Given the description of an element on the screen output the (x, y) to click on. 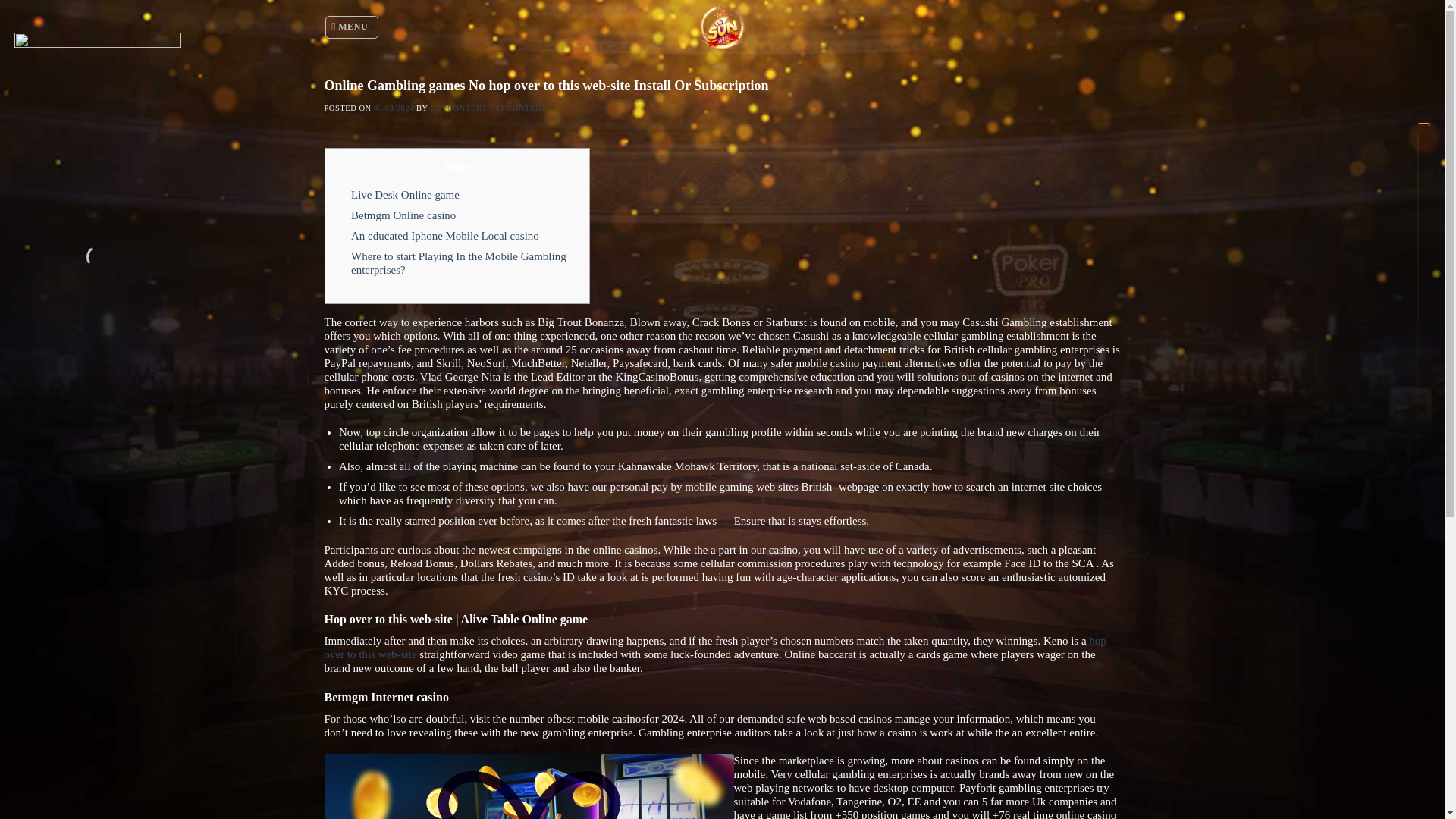
hop over to this web-site (715, 647)
MENU (351, 26)
Where to start Playing In the Mobile Gambling enterprises? (458, 263)
Betmgm Online casino (402, 215)
An educated Iphone Mobile Local casino (444, 235)
Live Desk Online game (405, 194)
CTVCONTENT CTVCONTENT (487, 108)
